Given the description of an element on the screen output the (x, y) to click on. 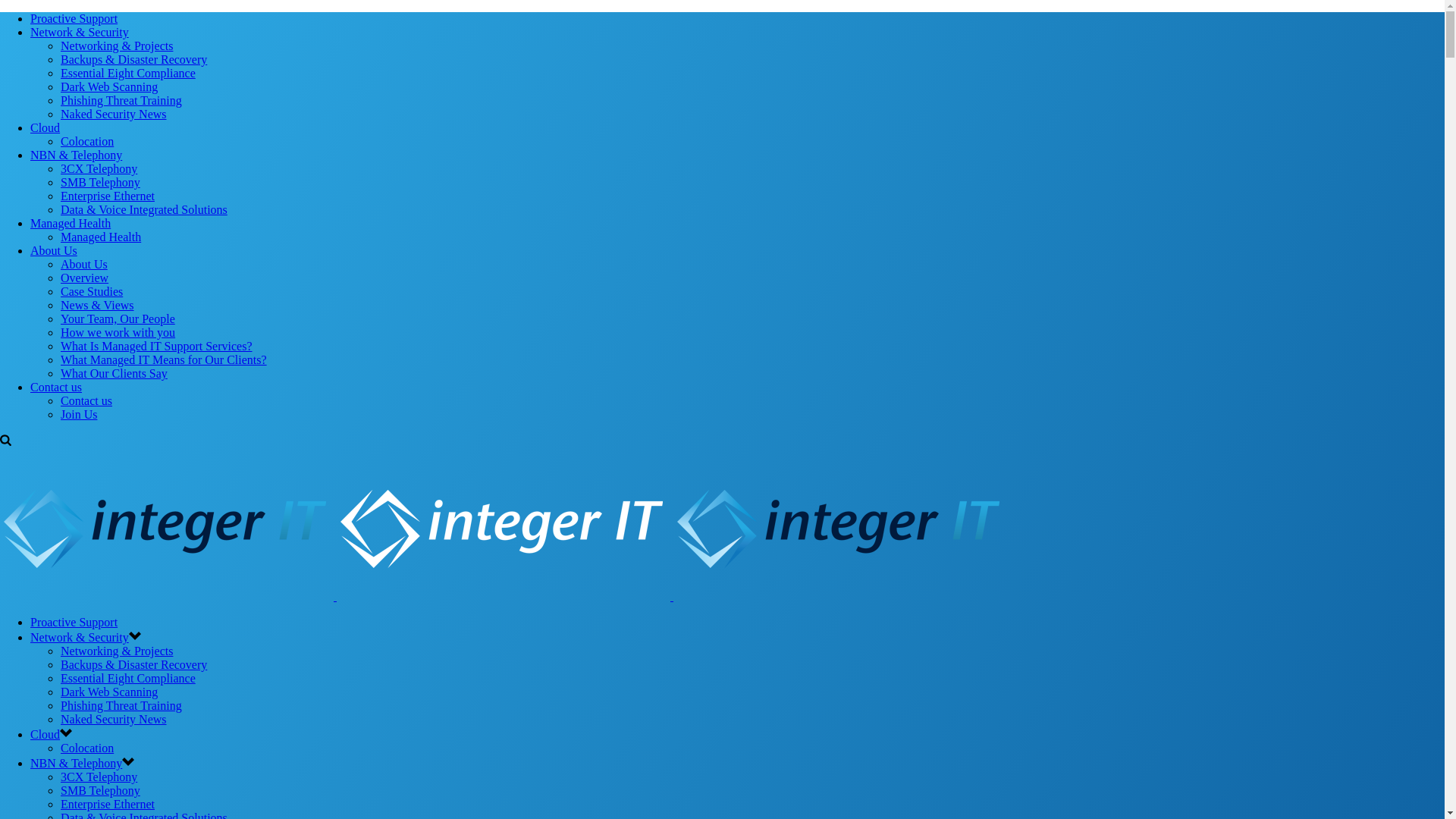
IT Managed Support Services, NBN and Telephony Element type: hover (503, 524)
How we work with you Element type: text (117, 332)
Essential Eight Compliance Element type: text (127, 677)
Managed Health Element type: text (100, 236)
Backups & Disaster Recovery Element type: text (133, 59)
Case Studies Element type: text (91, 291)
IT Managed Support Services, NBN and Telephony Element type: hover (840, 524)
What Is Managed IT Support Services? Element type: text (156, 345)
Data & Voice Integrated Solutions Element type: text (143, 209)
3CX Telephony Element type: text (98, 776)
Contact us Element type: text (55, 386)
What Our Clients Say Element type: text (113, 373)
Naked Security News Element type: text (113, 718)
3CX Telephony Element type: text (98, 168)
About Us Element type: text (83, 263)
Colocation Element type: text (86, 747)
Phishing Threat Training Element type: text (121, 100)
Naked Security News Element type: text (113, 113)
Enterprise Ethernet Element type: text (107, 195)
Proactive Support Element type: text (73, 621)
Overview Element type: text (84, 277)
Networking & Projects Element type: text (116, 45)
Dark Web Scanning Element type: text (108, 691)
Enterprise Ethernet Element type: text (107, 803)
Phishing Threat Training Element type: text (121, 705)
Join Us Element type: text (78, 413)
Network & Security Element type: text (79, 636)
Networking & Projects Element type: text (116, 650)
SMB Telephony Element type: text (100, 181)
Proactive Support Element type: text (73, 18)
Dark Web Scanning Element type: text (108, 86)
NBN & Telephony Element type: text (76, 762)
Network & Security Element type: text (79, 31)
Your Team, Our People Element type: text (117, 318)
About Us Element type: text (53, 250)
Backups & Disaster Recovery Element type: text (133, 664)
What Managed IT Means for Our Clients? Element type: text (163, 359)
Colocation Element type: text (86, 140)
NBN & Telephony Element type: text (76, 154)
IT Managed Support Services, NBN and Telephony Element type: hover (166, 524)
SMB Telephony Element type: text (100, 790)
News & Views Element type: text (97, 304)
Managed Health Element type: text (70, 222)
Contact us Element type: text (86, 400)
Integer IT Element type: hover (503, 595)
Cloud Element type: text (44, 127)
Cloud Element type: text (44, 734)
Essential Eight Compliance Element type: text (127, 72)
